Given the description of an element on the screen output the (x, y) to click on. 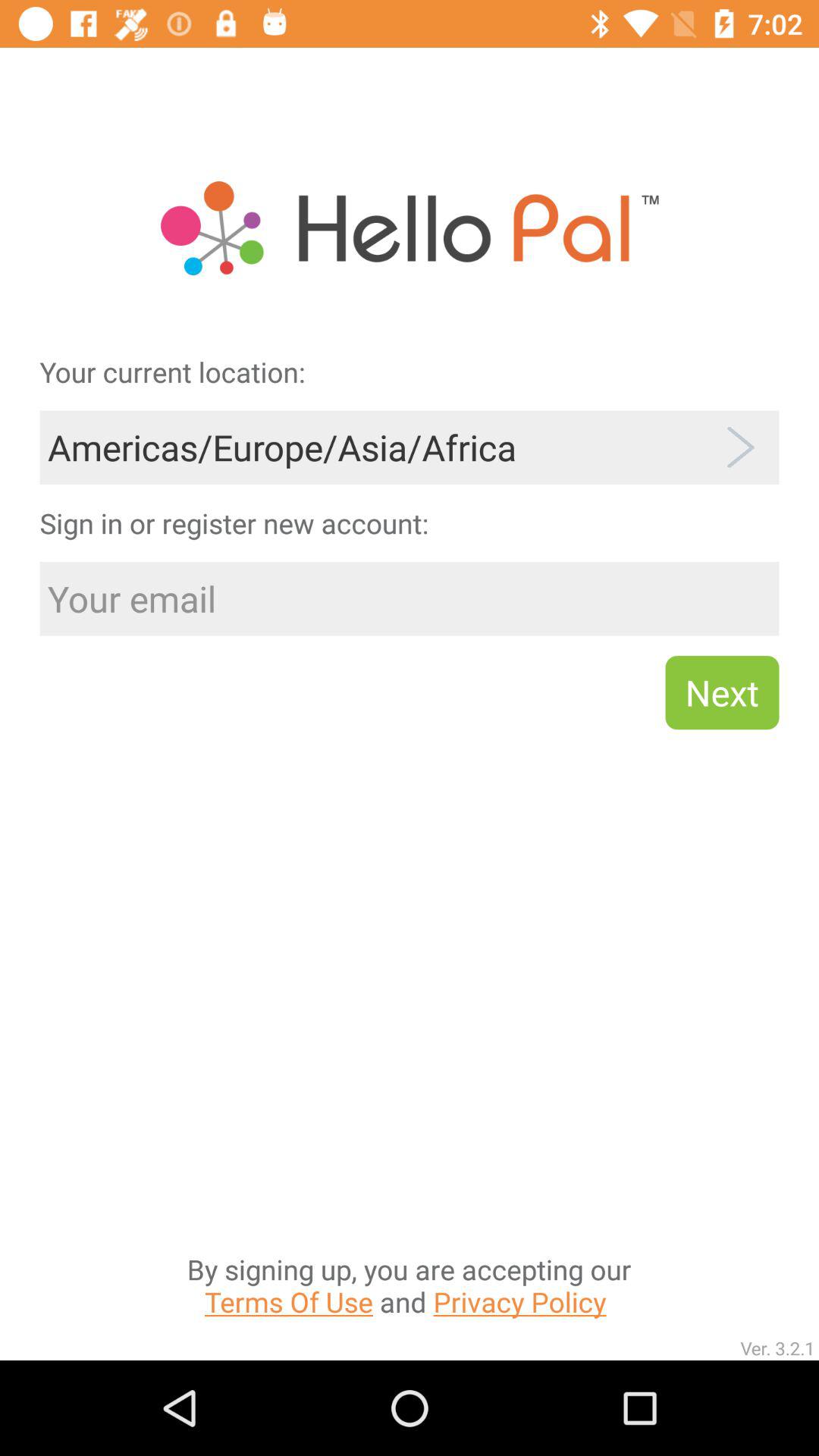
open the item below the next icon (409, 1133)
